Given the description of an element on the screen output the (x, y) to click on. 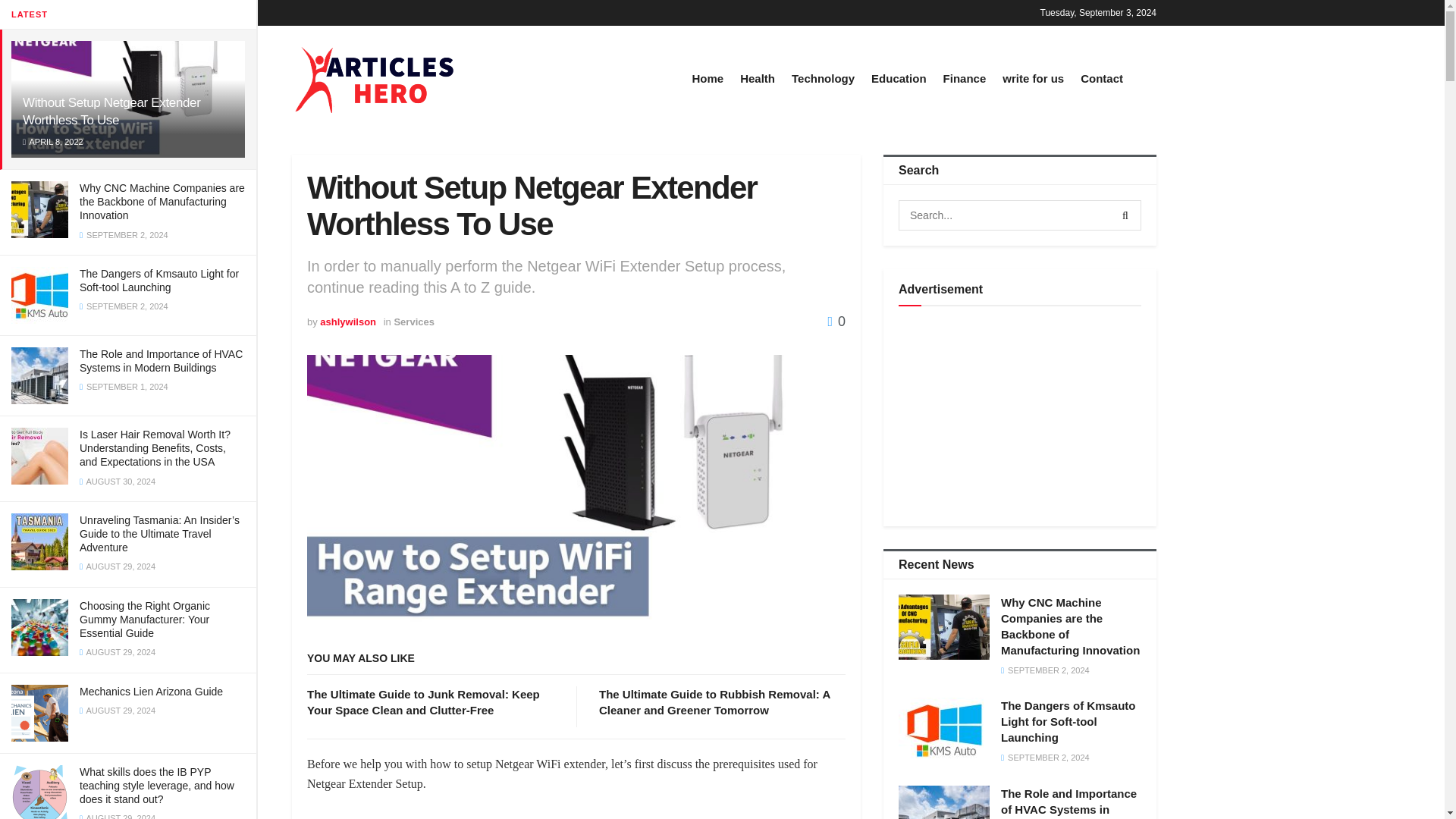
Contact (1101, 78)
Health (756, 78)
Without Setup Netgear Extender Worthless To Use (111, 111)
Finance (965, 78)
The Role and Importance of HVAC Systems in Modern Buildings (161, 360)
Technology (823, 78)
The Dangers of Kmsauto Light for Soft-tool Launching (159, 280)
Mechanics Lien Arizona Guide (151, 691)
